Given the description of an element on the screen output the (x, y) to click on. 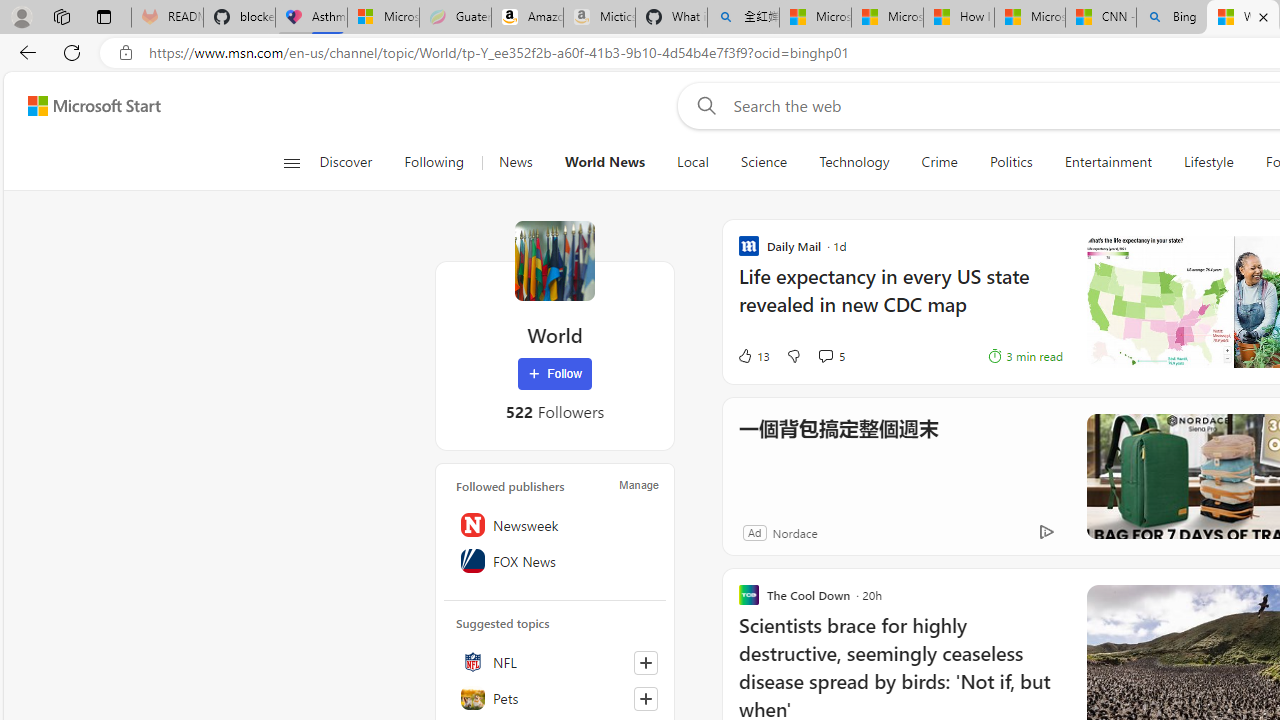
CNN - MSN (1101, 17)
Science (763, 162)
Nordace (794, 532)
Lifestyle (1208, 162)
